Given the description of an element on the screen output the (x, y) to click on. 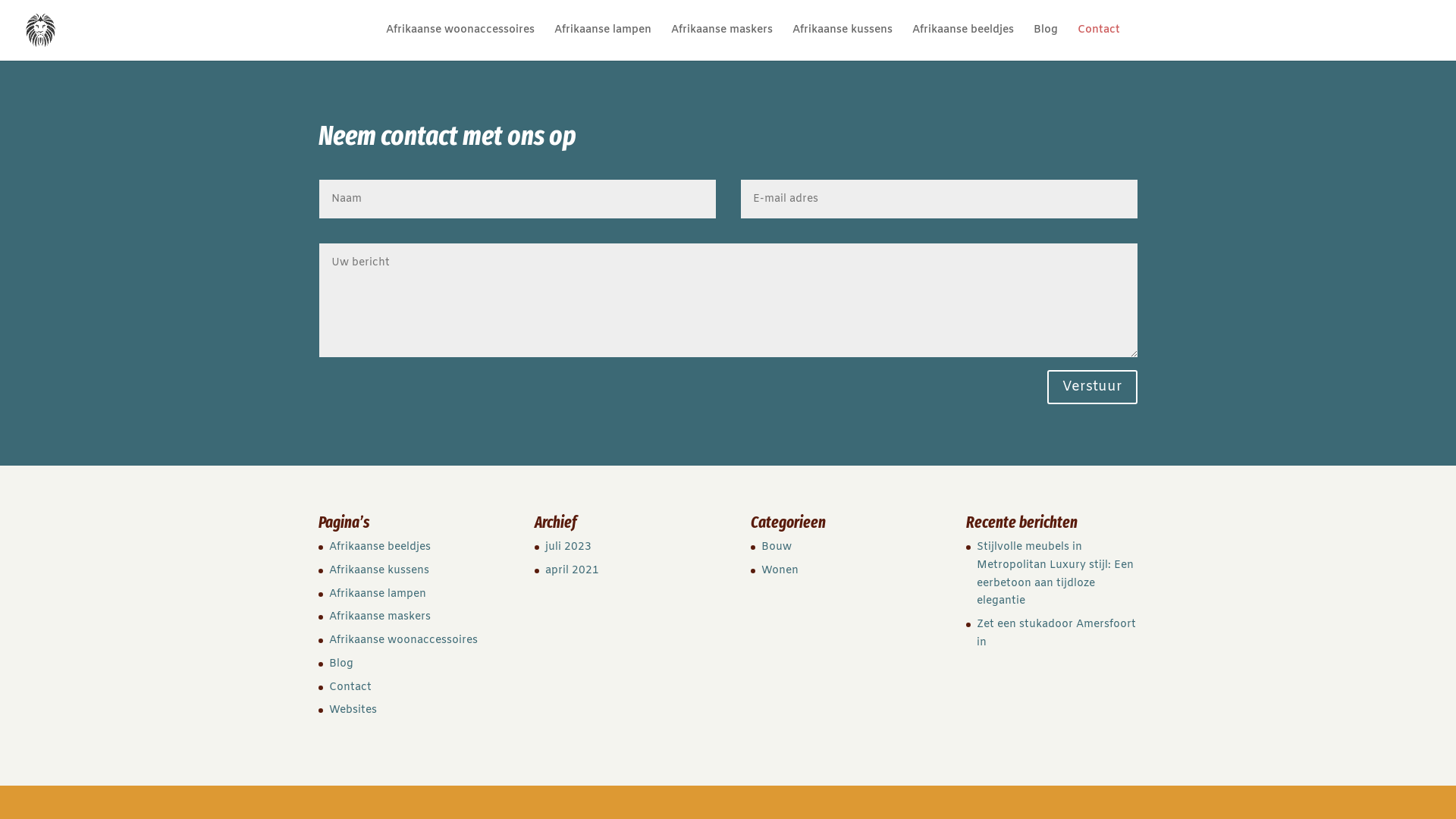
juli 2023 Element type: text (568, 546)
Afrikaanse woonaccessoires Element type: text (403, 640)
Blog Element type: text (1045, 42)
Afrikaanse lampen Element type: text (377, 593)
Verstuur Element type: text (1092, 387)
Afrikaanse lampen Element type: text (602, 42)
Afrikaanse kussens Element type: text (842, 42)
Contact Element type: text (1098, 42)
Zet een stukadoor Amersfoort in Element type: text (1055, 633)
Afrikaanse woonaccessoires Element type: text (459, 42)
Websites Element type: text (352, 709)
Afrikaanse maskers Element type: text (721, 42)
april 2021 Element type: text (572, 570)
Afrikaanse kussens Element type: text (379, 570)
Afrikaanse maskers Element type: text (379, 616)
Wonen Element type: text (779, 570)
Bouw Element type: text (776, 546)
Contact Element type: text (350, 687)
Afrikaanse beeldjes Element type: text (962, 42)
Blog Element type: text (341, 663)
Afrikaanse beeldjes Element type: text (379, 546)
